Given the description of an element on the screen output the (x, y) to click on. 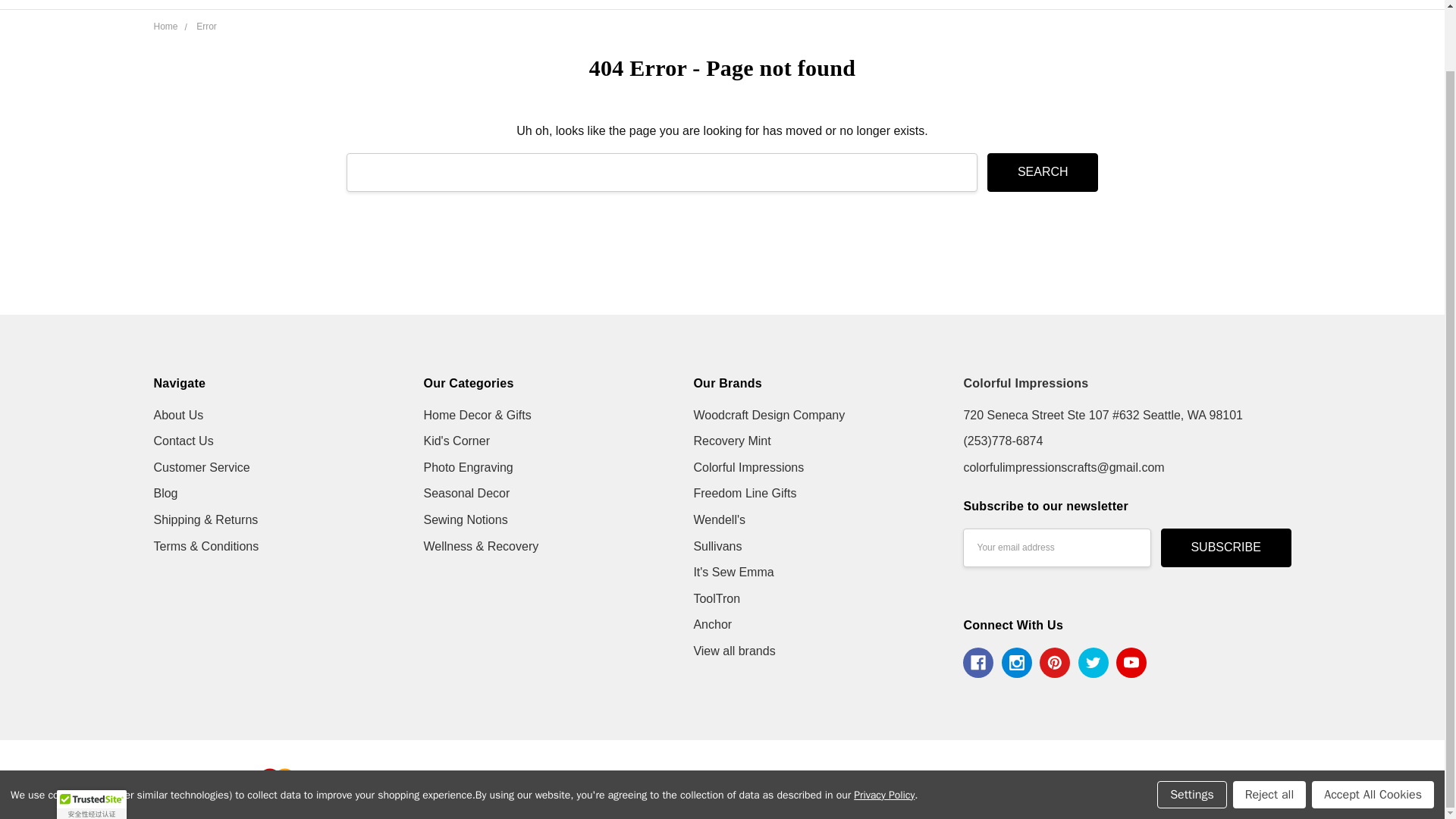
Show All (1082, 4)
Subscribe (1225, 547)
COLORFUL IMPRESSIONS (263, 22)
ABOUT US (493, 4)
PHOTO ENGRAVING (854, 4)
CONTACT US (499, 4)
KID'S CORNER (728, 4)
HOME (481, 4)
TrustedSite Certified (91, 737)
CUSTOMER SERVICE (520, 4)
